Given the description of an element on the screen output the (x, y) to click on. 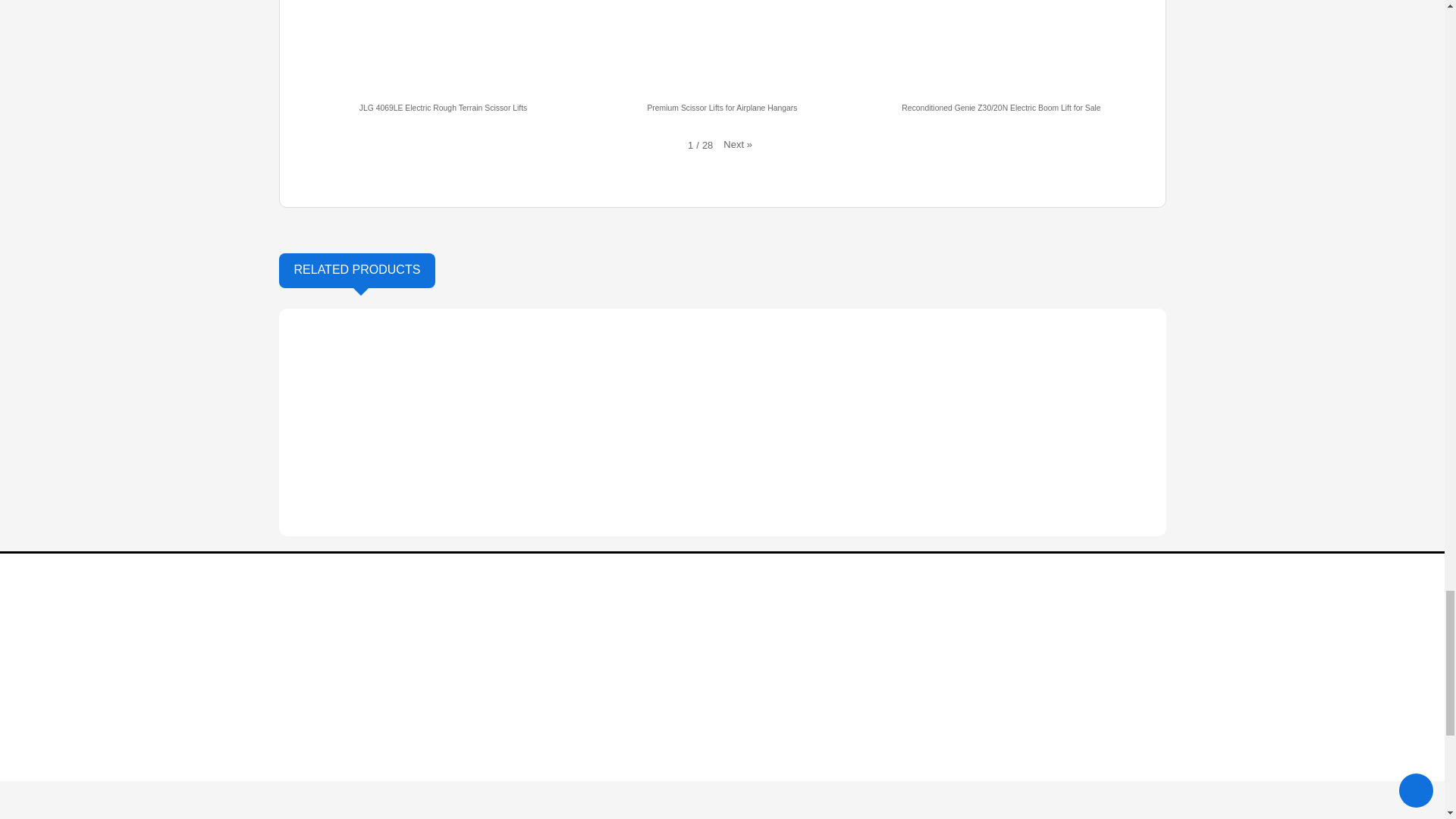
2024 Genie GTH 55-19 (344, 539)
